Given the description of an element on the screen output the (x, y) to click on. 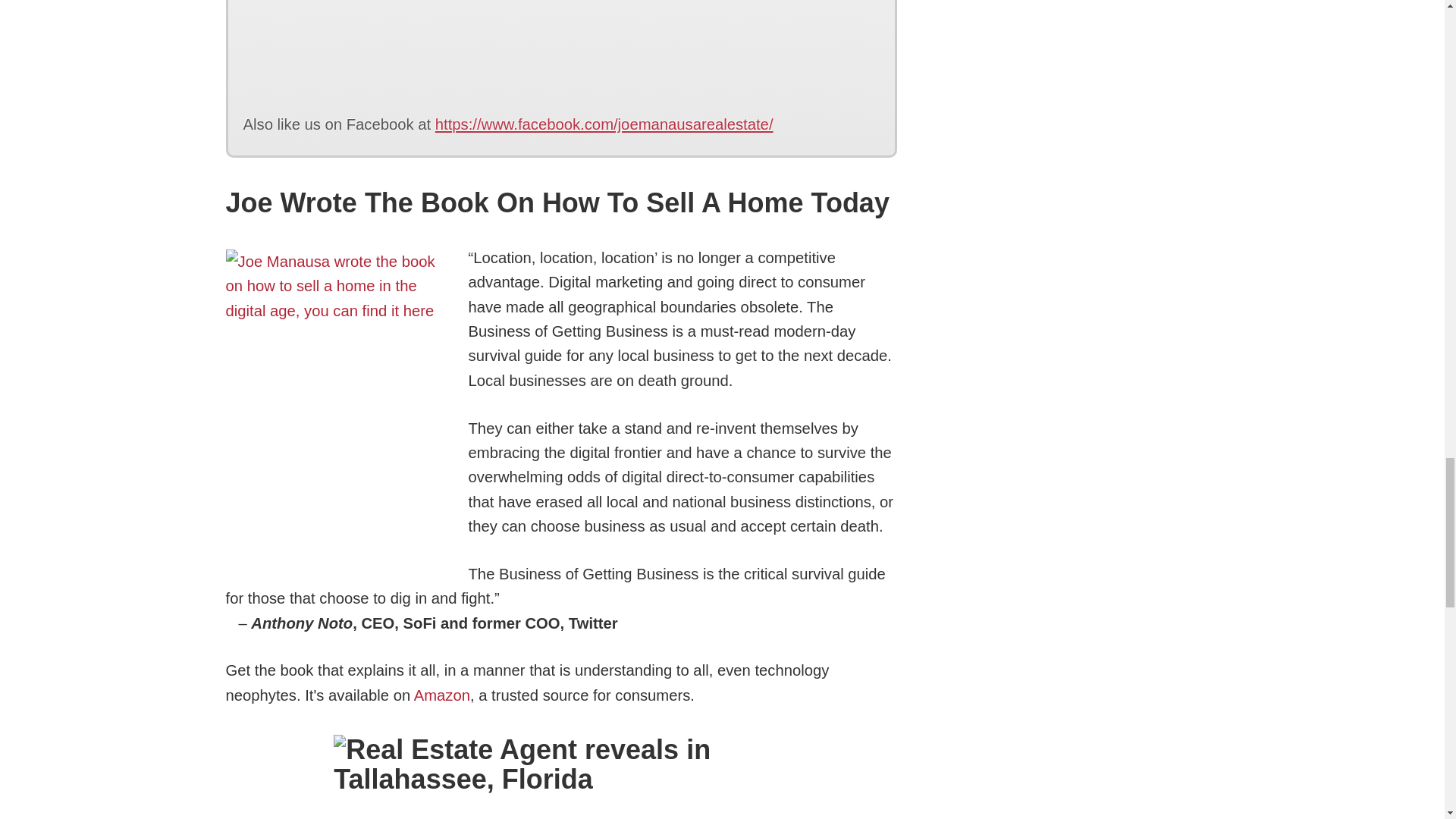
Please Like Us And Share On Facebook (561, 42)
Real Estate Agent Reviews (561, 776)
Like Joe Manausa Real Estate On Facebook (561, 42)
Joe's Book On How To Sell A Home (441, 695)
